Given the description of an element on the screen output the (x, y) to click on. 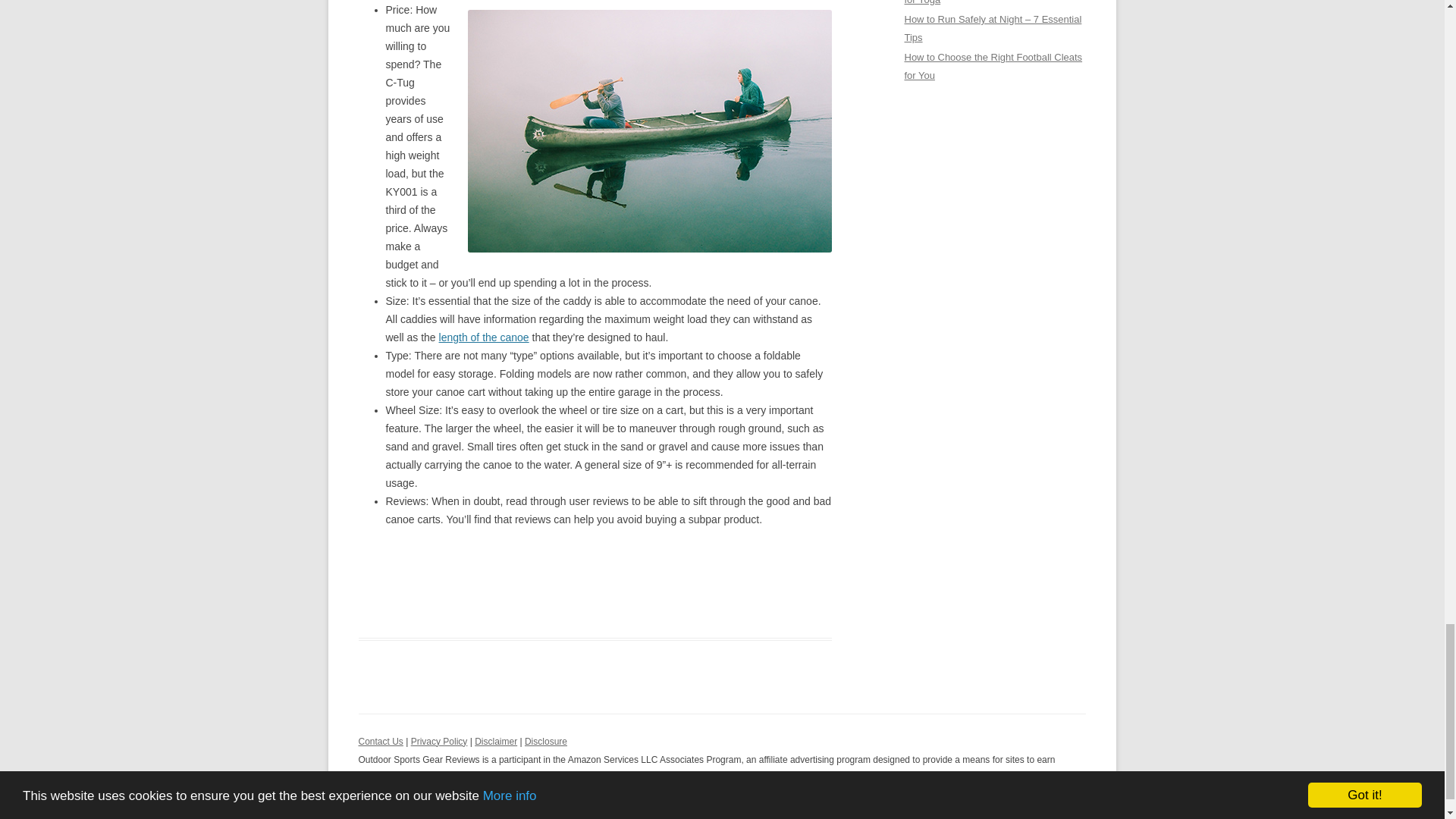
length of the canoe (484, 337)
